Given the description of an element on the screen output the (x, y) to click on. 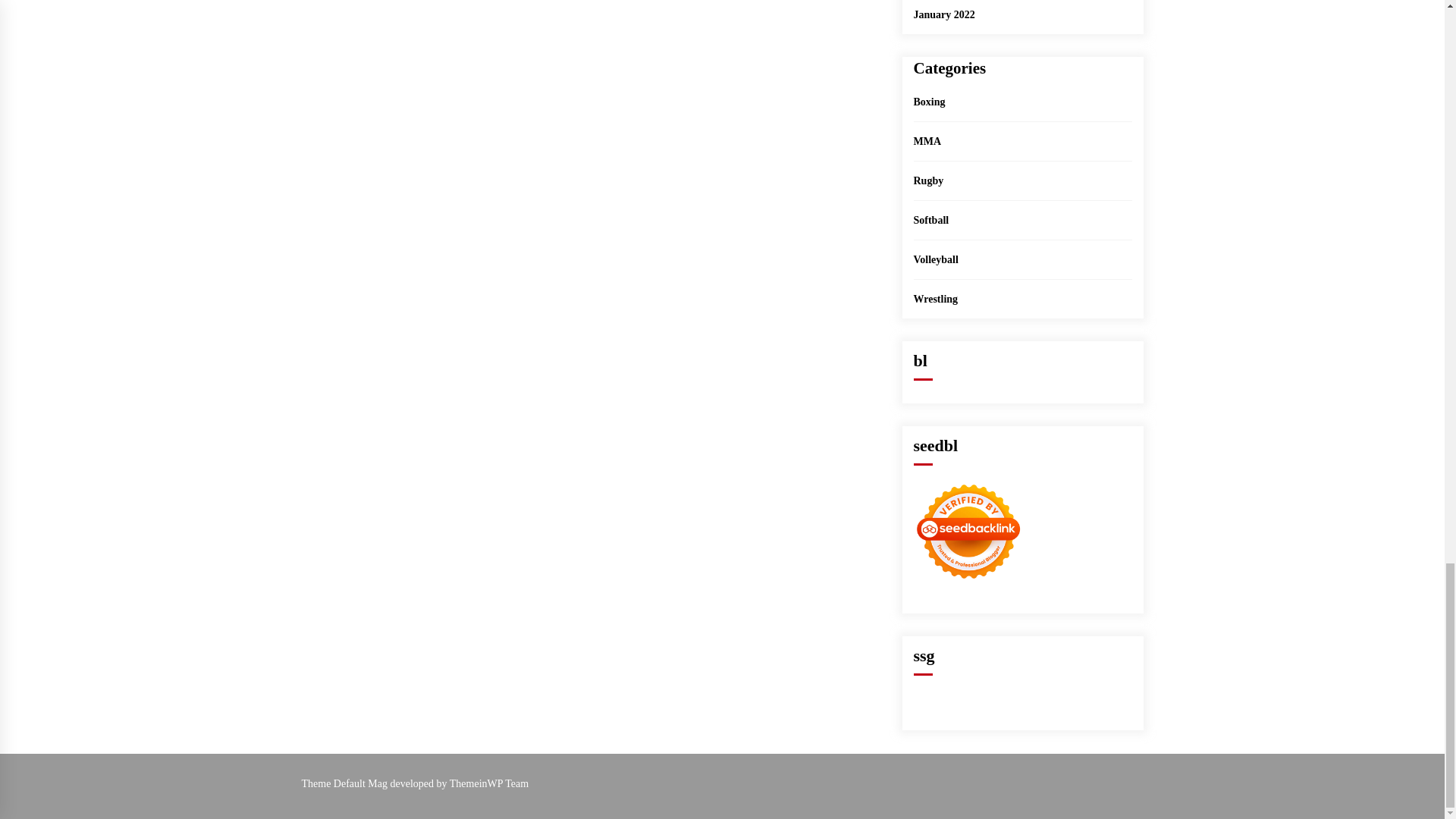
Seedbacklink (967, 531)
